Given the description of an element on the screen output the (x, y) to click on. 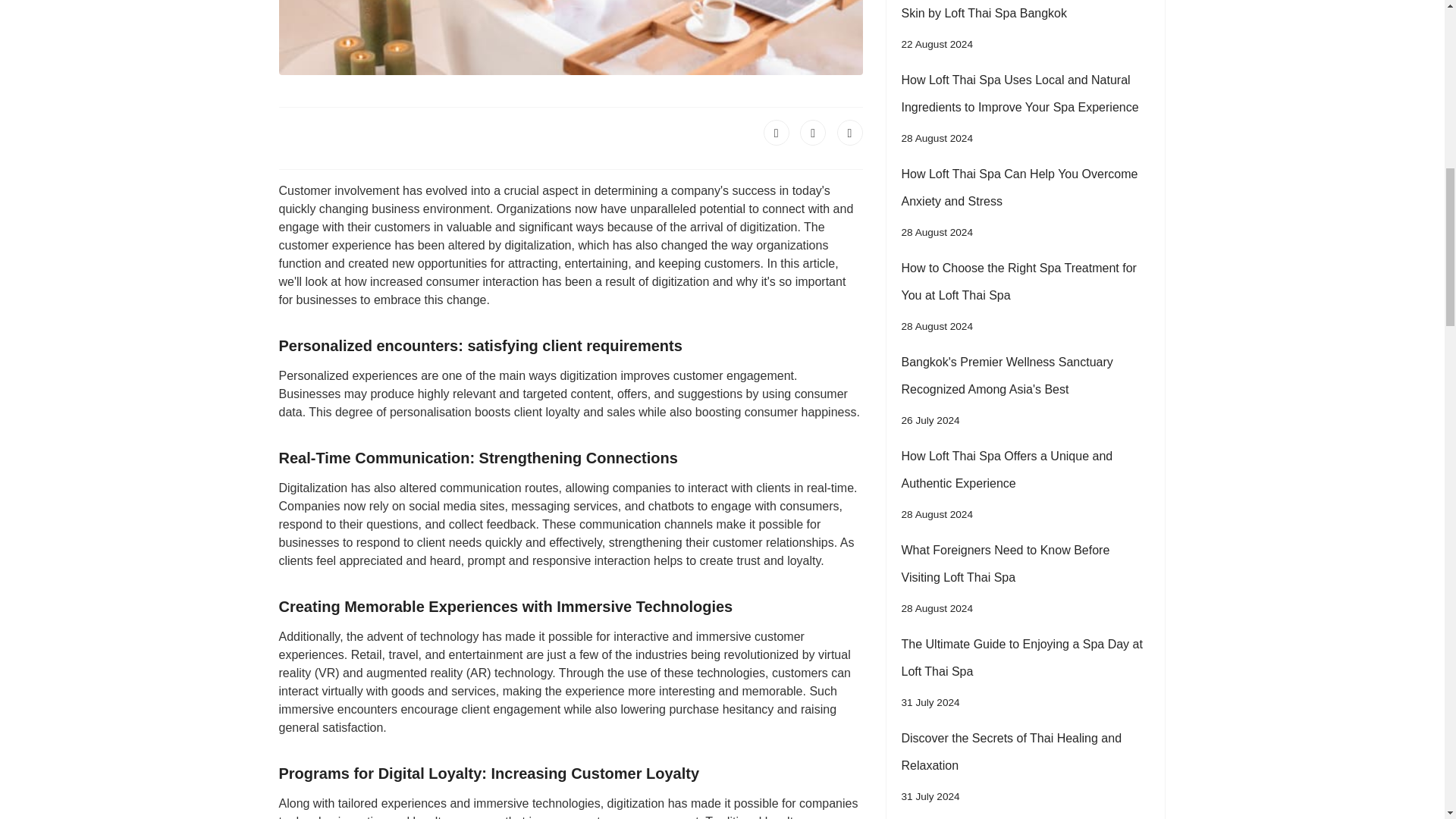
Facebook (775, 132)
Twitter (812, 132)
LinkedIn (850, 132)
